Given the description of an element on the screen output the (x, y) to click on. 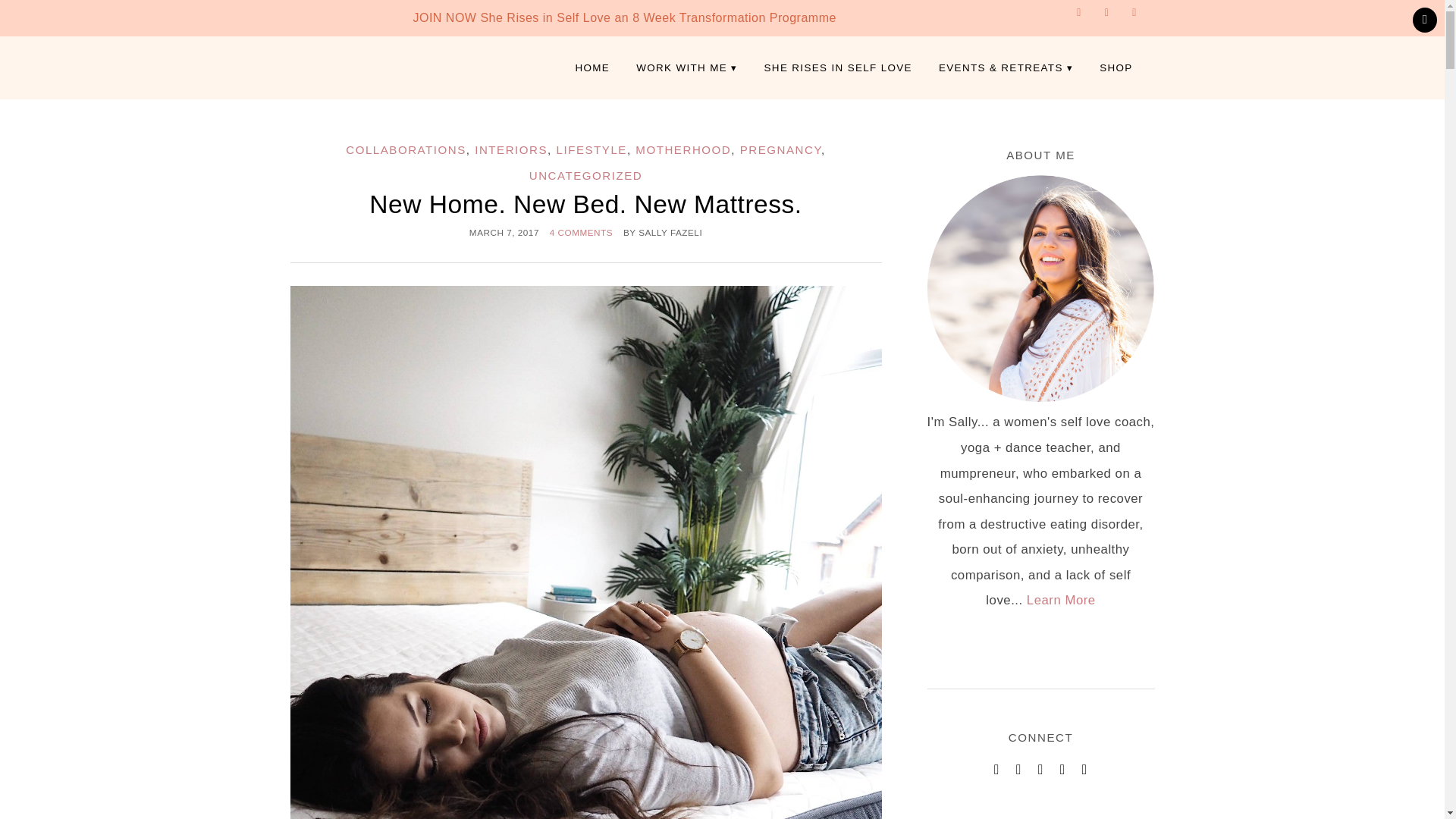
LIFESTYLE (591, 149)
HOME (592, 67)
MOTHERHOOD (682, 149)
SHOP (1114, 67)
New Home. New Bed. New Mattress. (585, 204)
4 COMMENTS (581, 232)
View your shopping cart (1424, 19)
COLLABORATIONS (405, 149)
WORK WITH ME (686, 67)
